Given the description of an element on the screen output the (x, y) to click on. 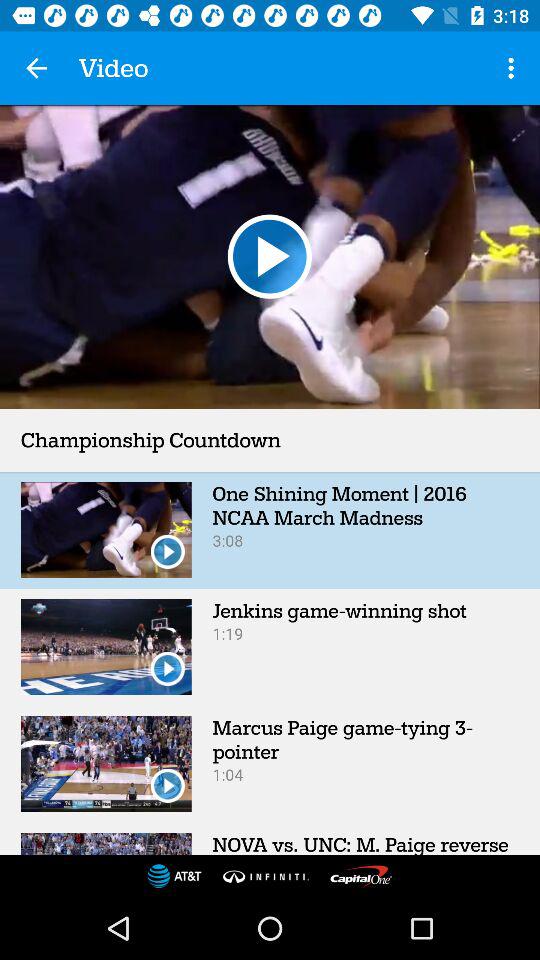
turn off the app to the left of the video (36, 68)
